Given the description of an element on the screen output the (x, y) to click on. 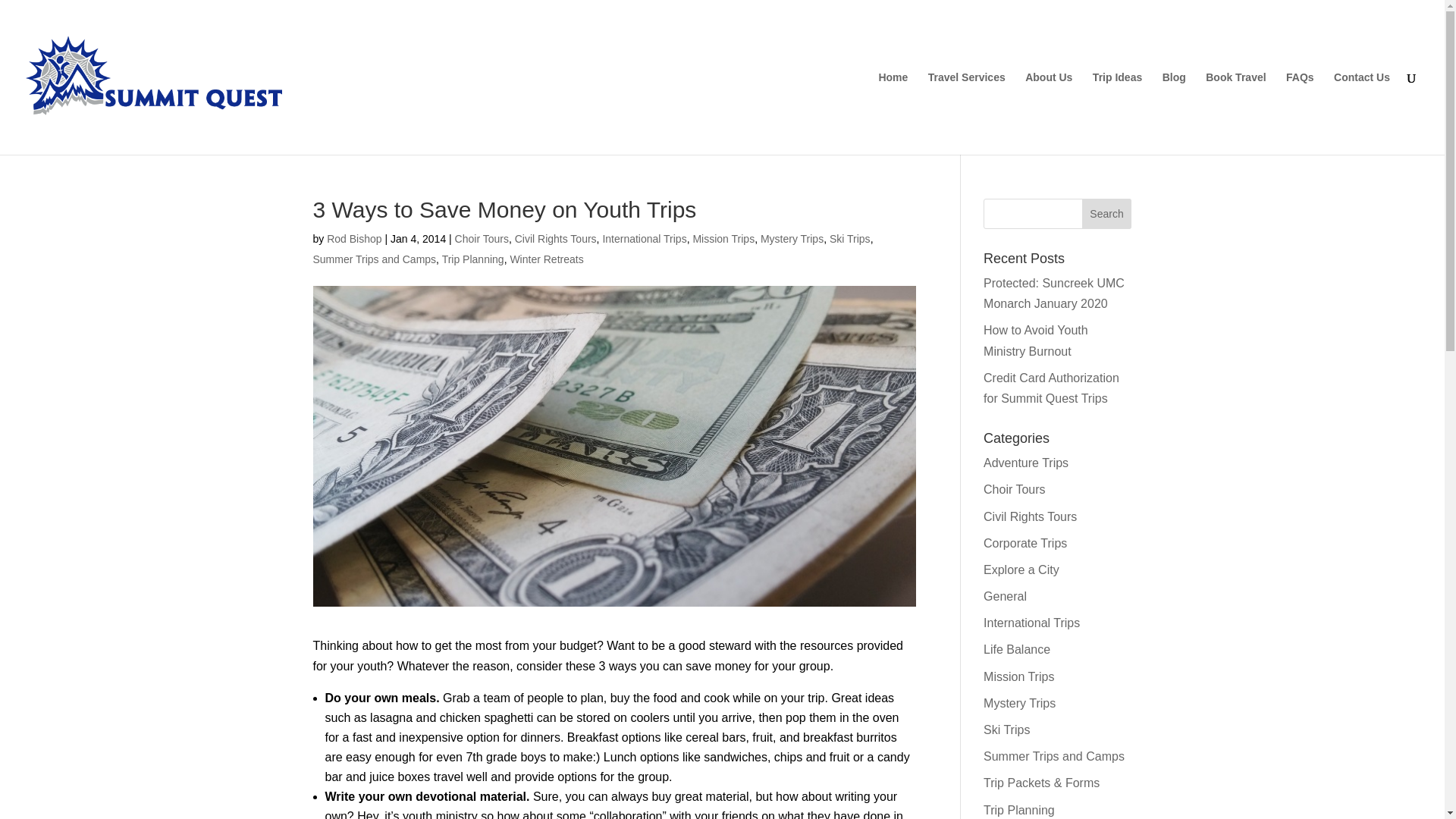
Protected: Suncreek UMC Monarch January 2020 (1054, 293)
Search (1106, 214)
Civil Rights Tours (1030, 515)
Choir Tours (1014, 489)
Corporate Trips (1025, 543)
Civil Rights Tours (555, 238)
Choir Tours (481, 238)
Credit Card Authorization for Summit Quest Trips (1051, 387)
Mission Trips (1019, 676)
How to Avoid Youth Ministry Burnout (1035, 340)
Explore a City (1021, 569)
Mystery Trips (792, 238)
Adventure Trips (1026, 462)
Summer Trips and Camps (374, 259)
International Trips (643, 238)
